Given the description of an element on the screen output the (x, y) to click on. 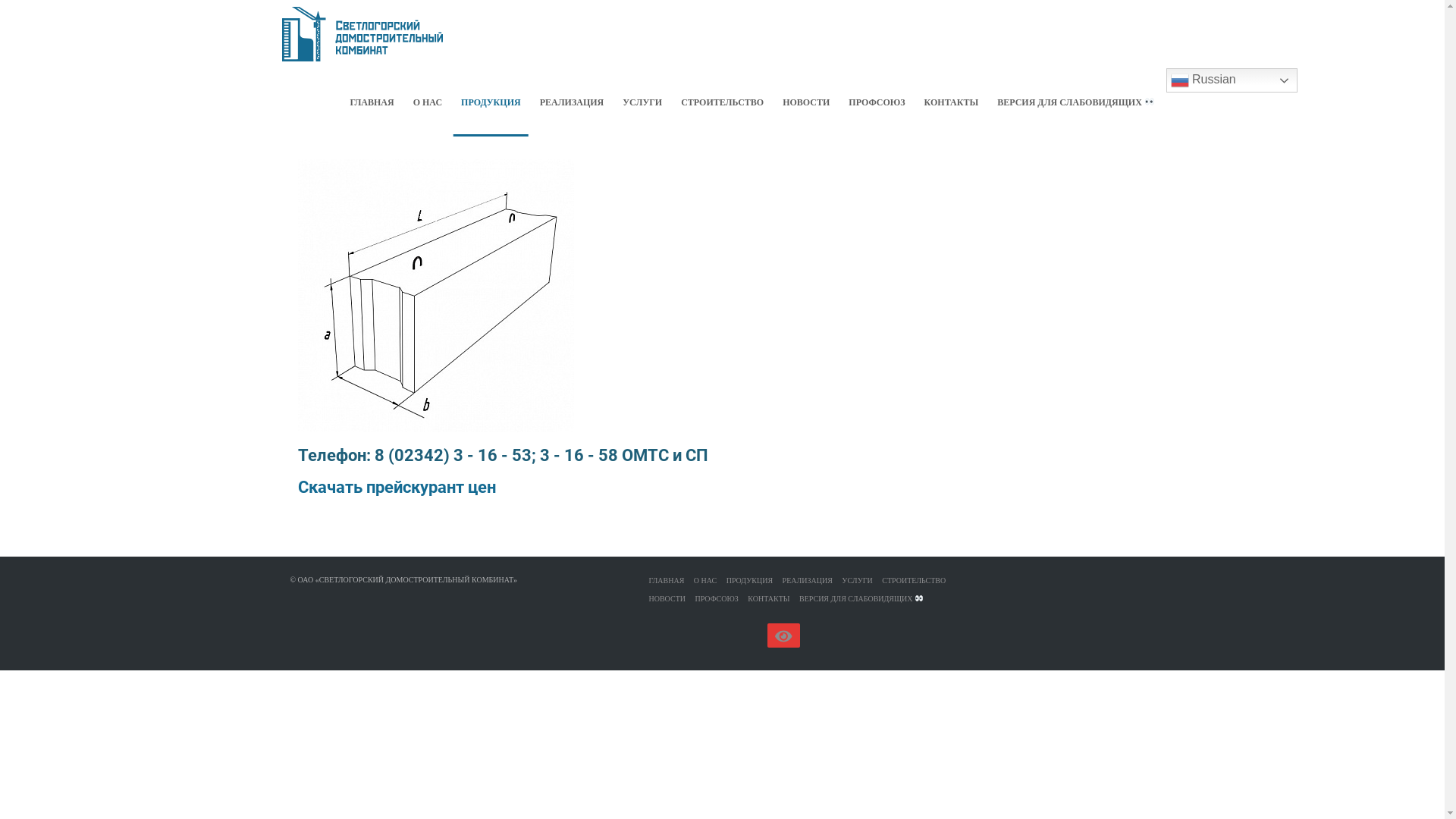
Russian Element type: text (1231, 80)
